Given the description of an element on the screen output the (x, y) to click on. 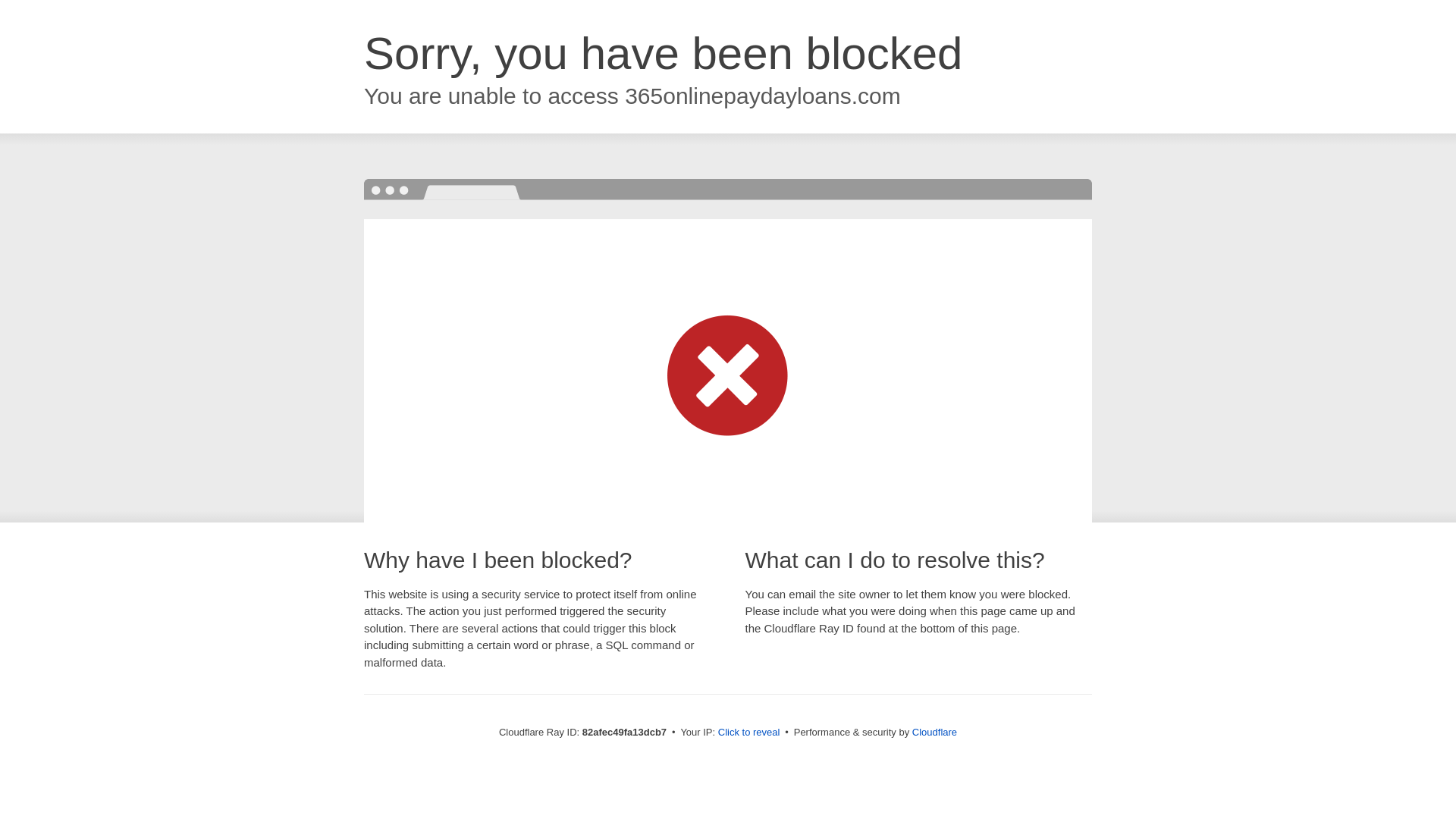
Cloudflare Element type: text (934, 731)
Click to reveal Element type: text (749, 732)
